Given the description of an element on the screen output the (x, y) to click on. 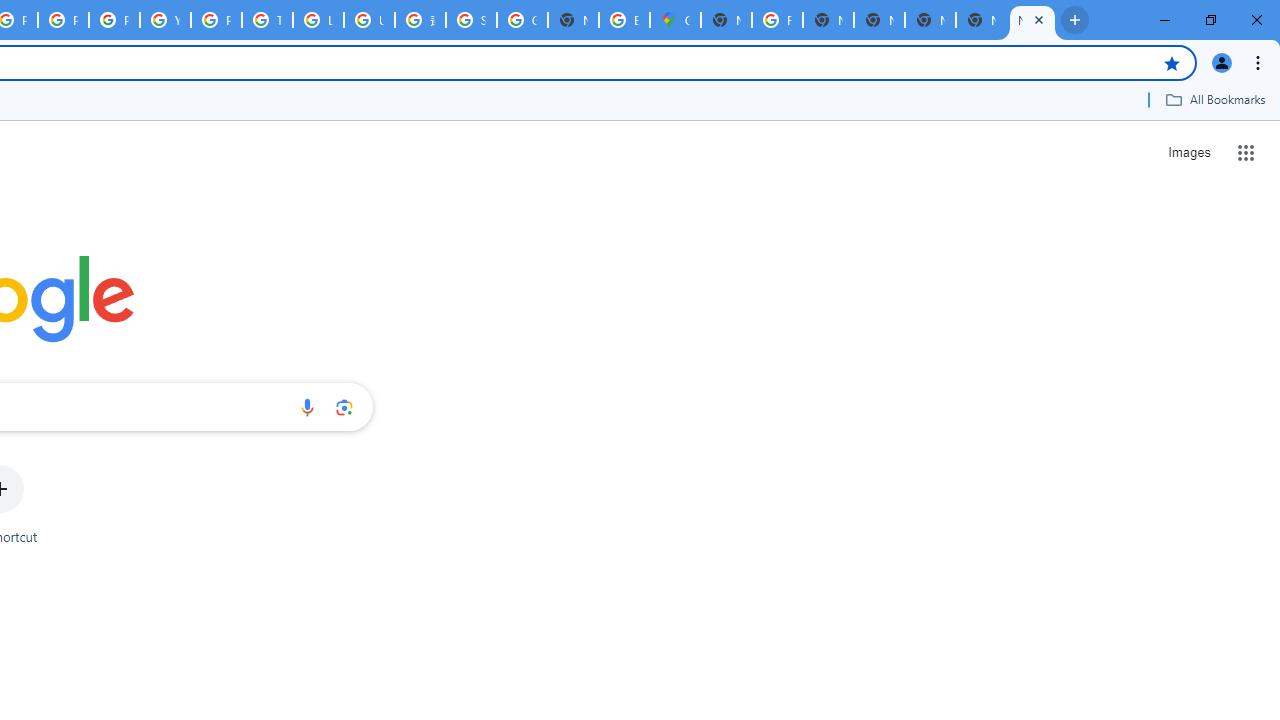
New Tab (726, 20)
Sign in - Google Accounts (470, 20)
Privacy Help Center - Policies Help (63, 20)
New Tab (981, 20)
All Bookmarks (1215, 99)
New Tab (1032, 20)
Explore new street-level details - Google Maps Help (624, 20)
